Given the description of an element on the screen output the (x, y) to click on. 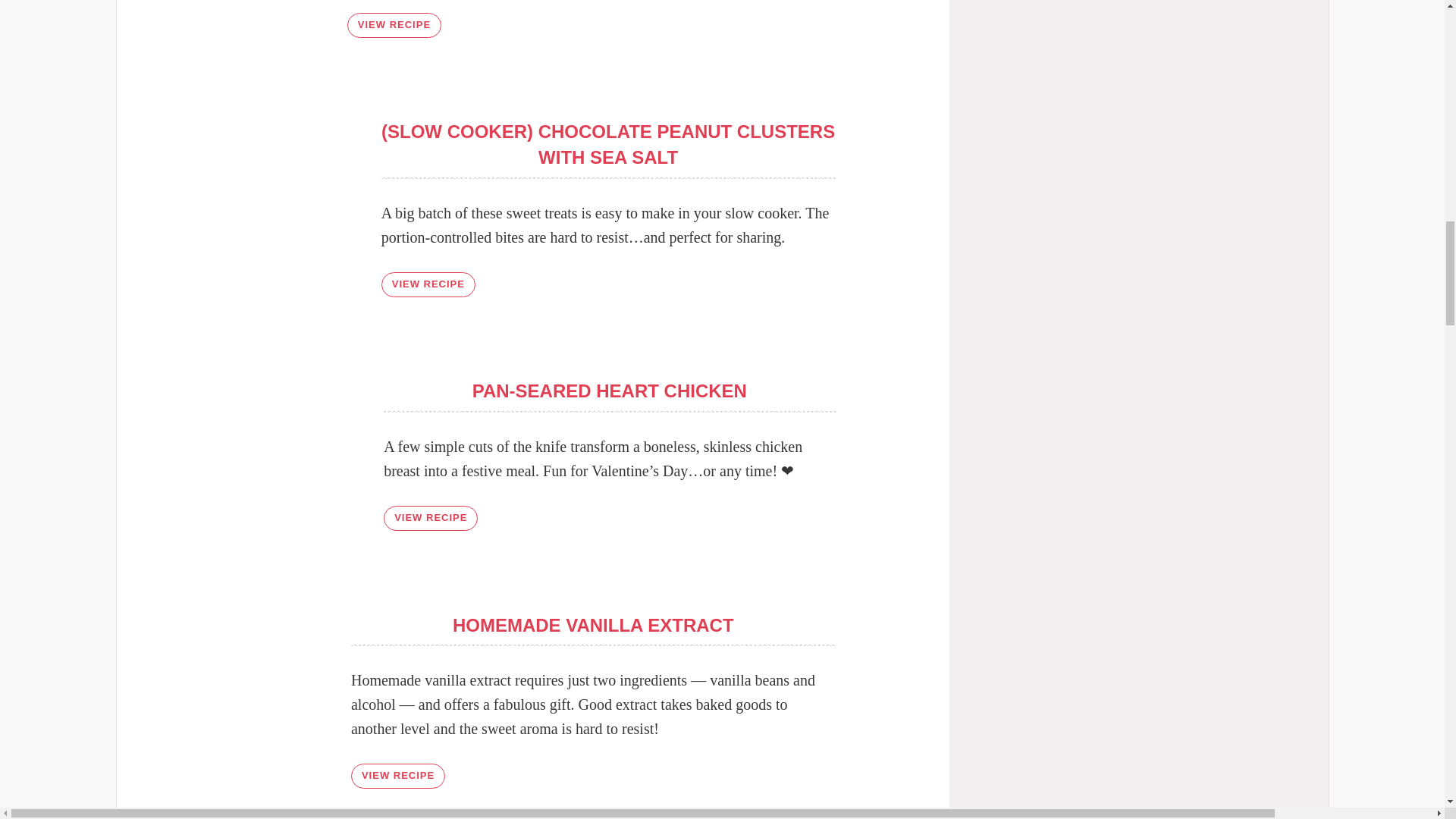
HOMEMADE VANILLA EXTRACT (592, 625)
VIEW RECIPE (397, 775)
VIEW RECIPE (430, 518)
VIEW RECIPE (394, 25)
VIEW RECIPE (428, 284)
PAN-SEARED HEART CHICKEN (608, 390)
